Given the description of an element on the screen output the (x, y) to click on. 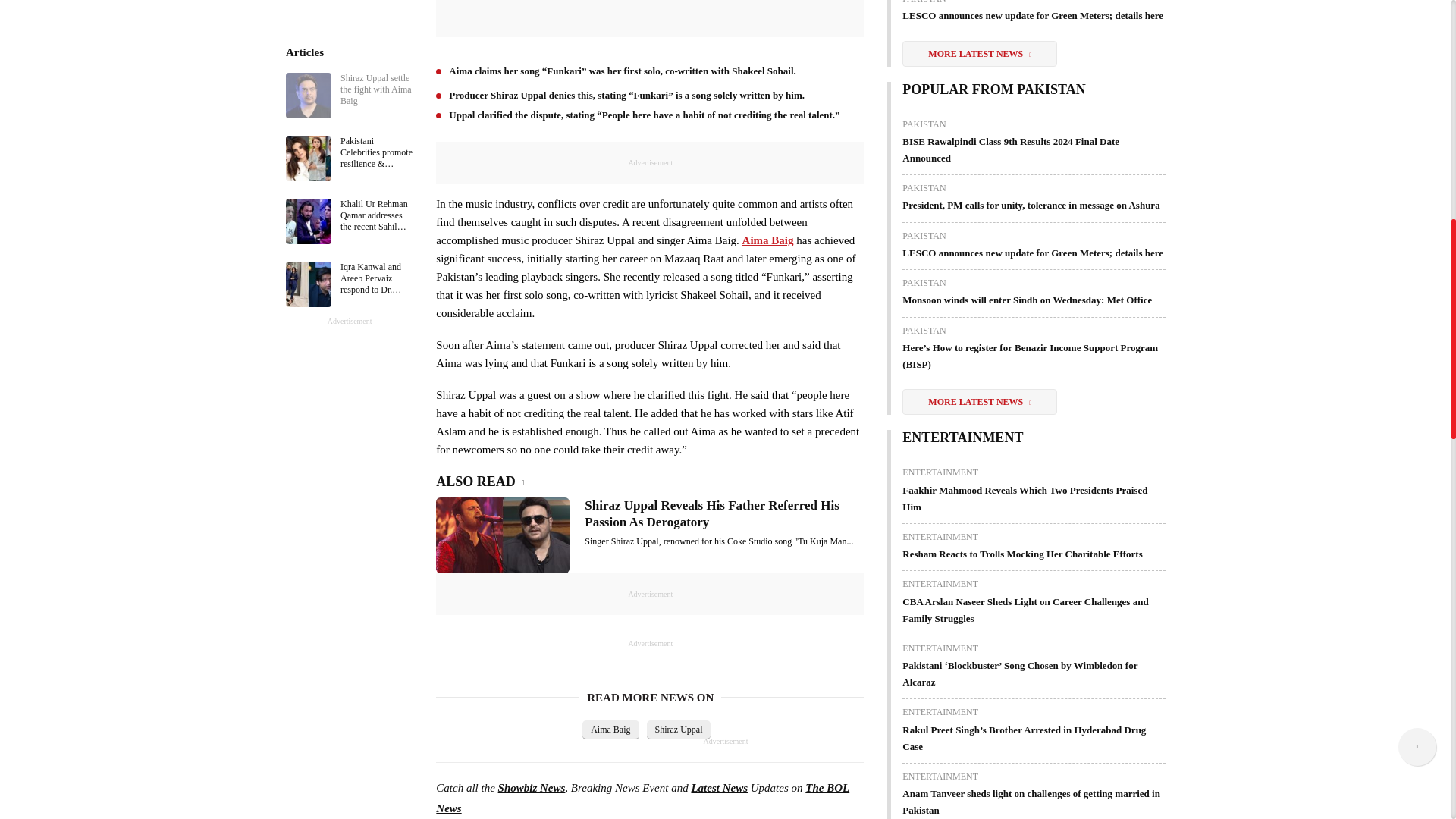
Advertisement (346, 115)
Advertisement (650, 16)
